Given the description of an element on the screen output the (x, y) to click on. 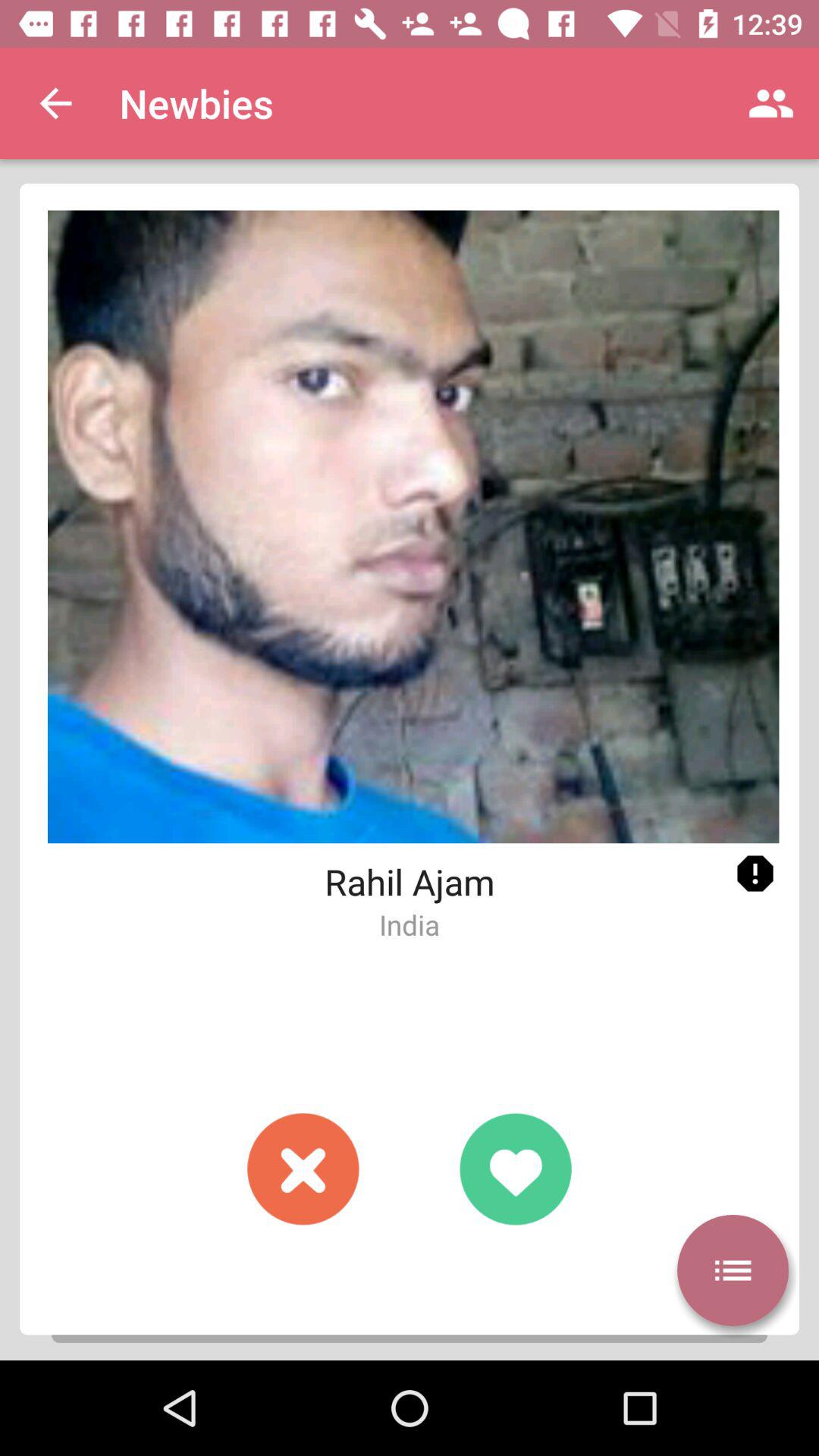
info button (755, 873)
